Given the description of an element on the screen output the (x, y) to click on. 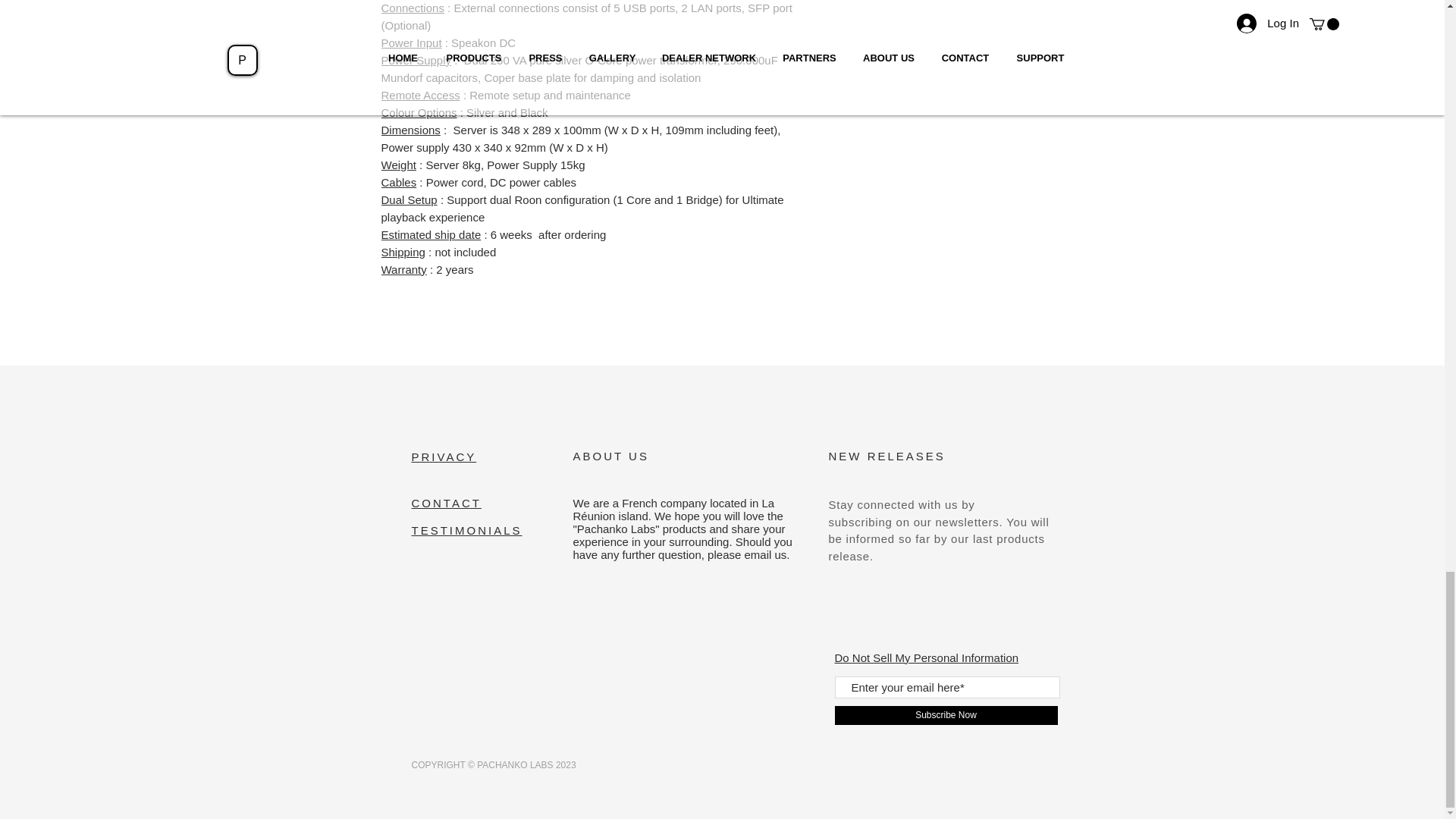
PRIVACY (443, 456)
Do Not Sell My Personal Information (925, 657)
TESTIMONIALS (465, 530)
CONTACT (445, 502)
